Given the description of an element on the screen output the (x, y) to click on. 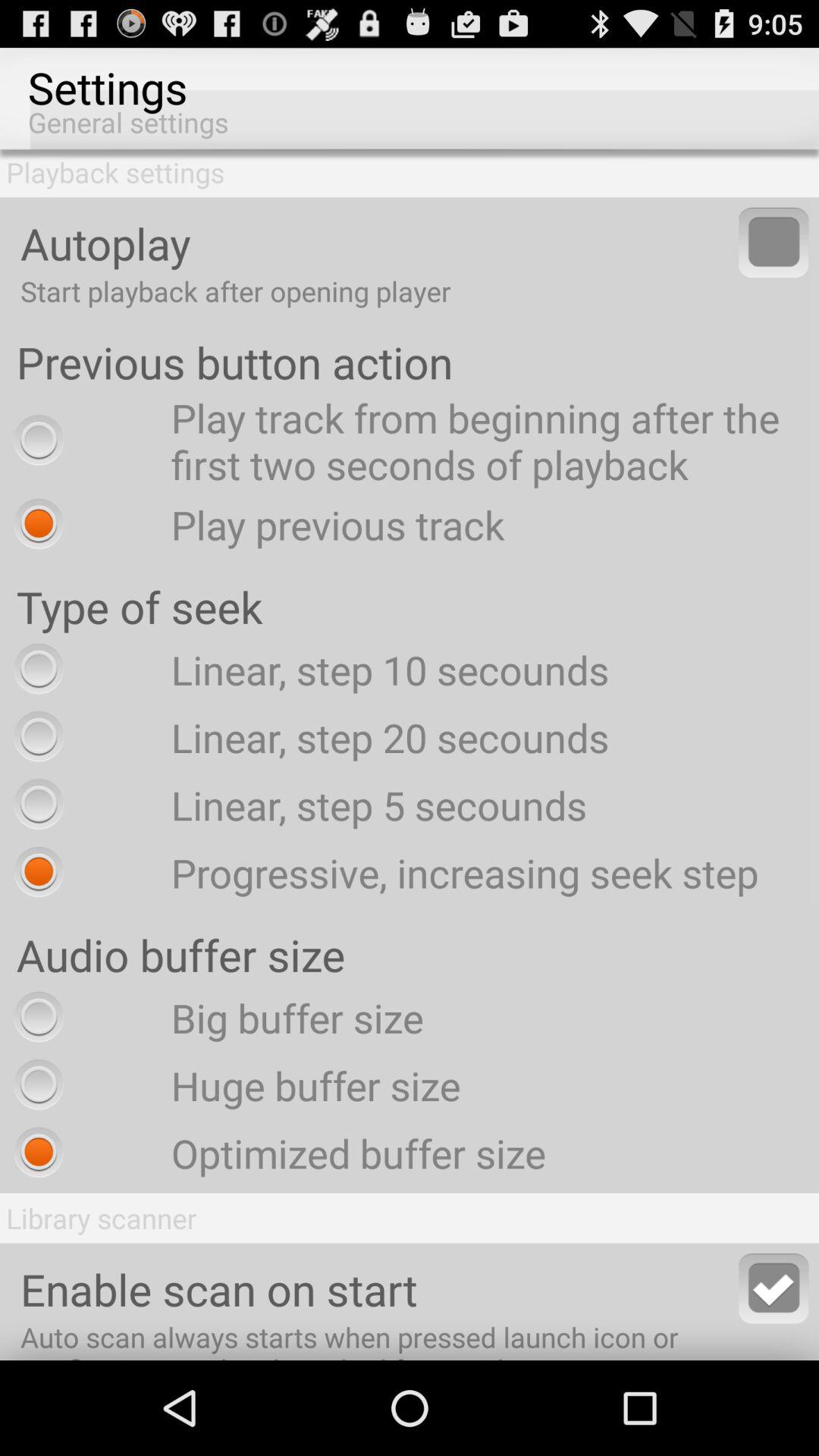
launch the progressive increasing seek icon (382, 872)
